Given the description of an element on the screen output the (x, y) to click on. 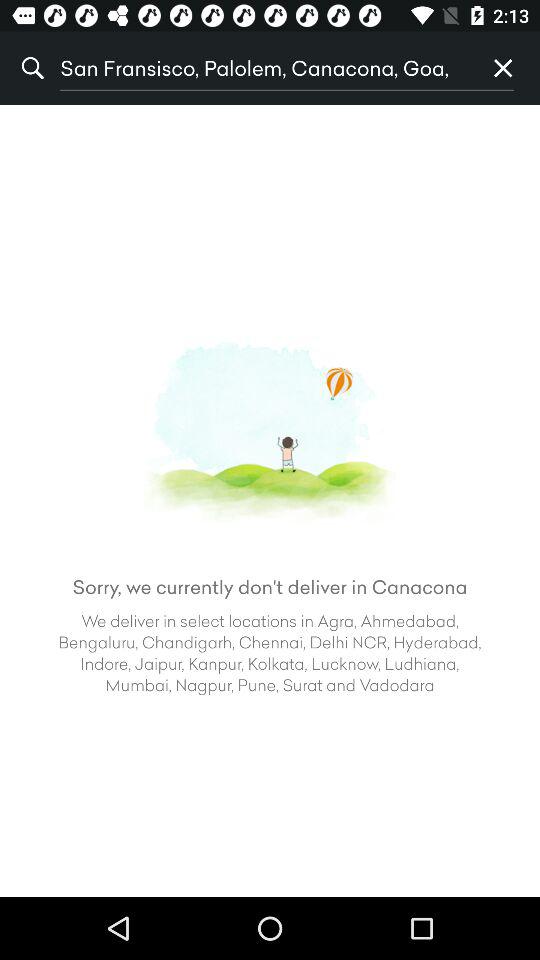
press san fransisco palolem item (263, 68)
